Given the description of an element on the screen output the (x, y) to click on. 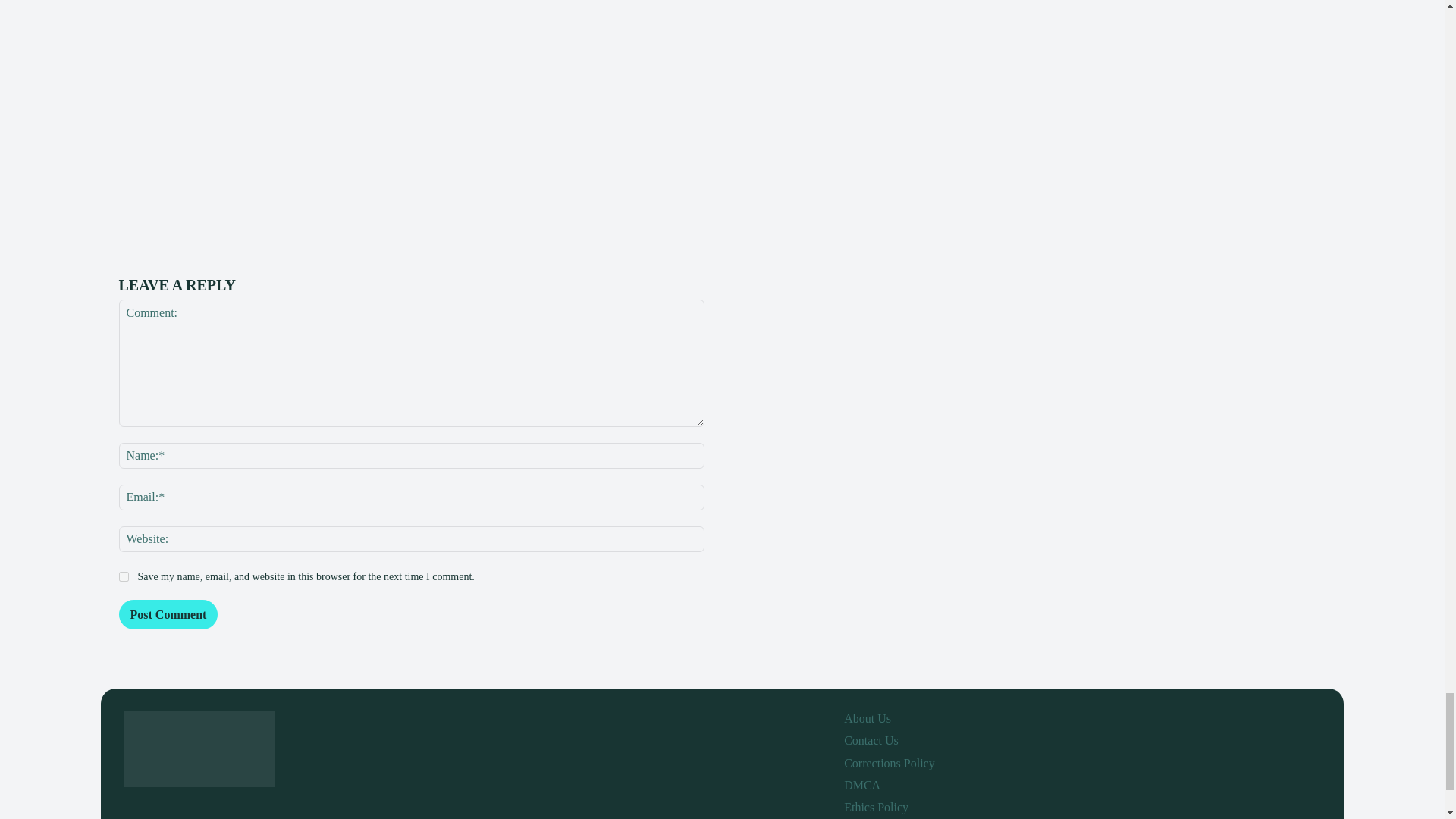
Post Comment (166, 614)
yes (122, 576)
